Given the description of an element on the screen output the (x, y) to click on. 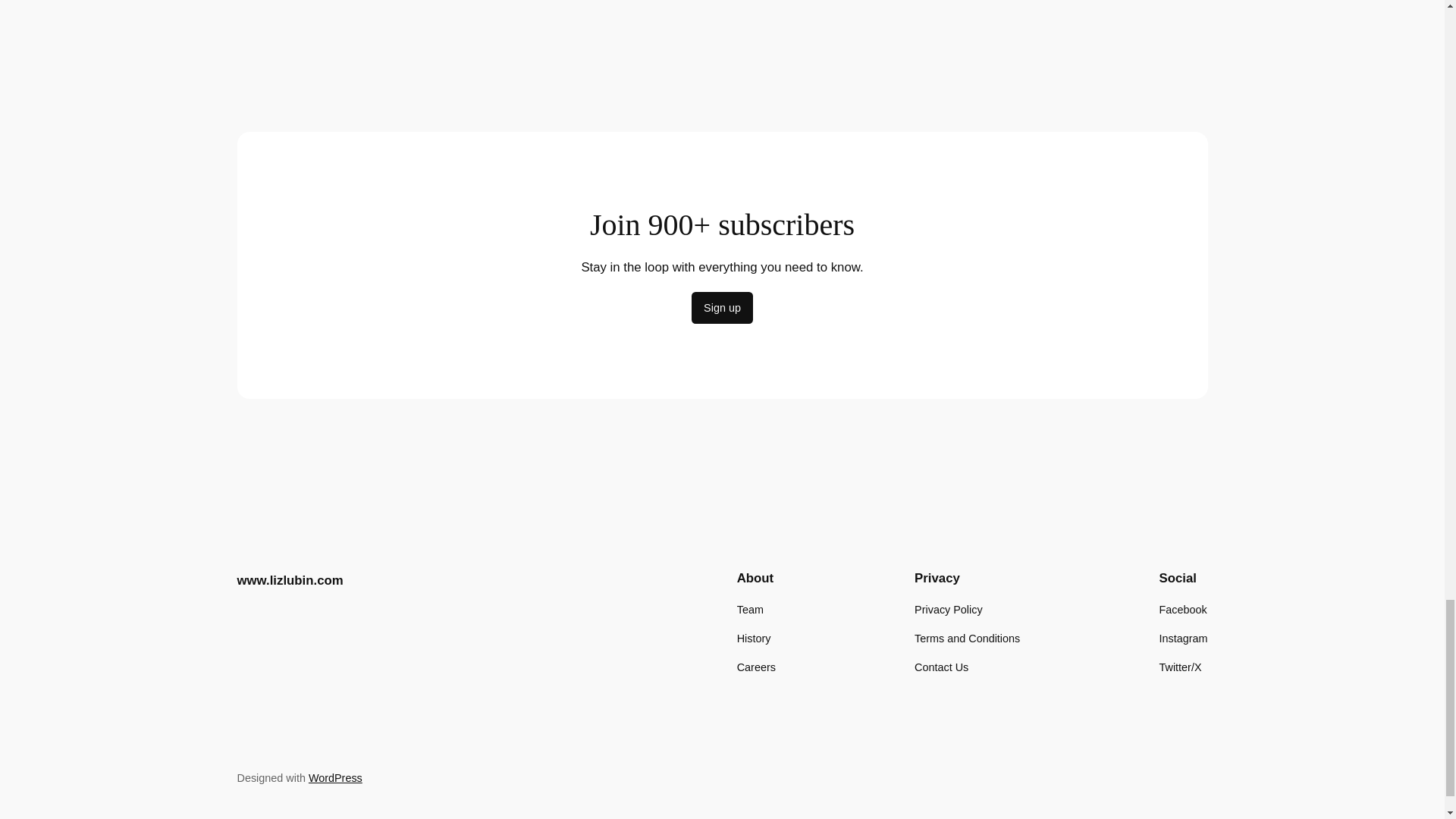
Facebook (1182, 609)
Contact Us (941, 667)
Careers (756, 667)
Team (749, 609)
Terms and Conditions (967, 638)
Privacy Policy (948, 609)
Sign up (721, 307)
History (753, 638)
Instagram (1182, 638)
www.lizlubin.com (288, 580)
WordPress (335, 777)
